Given the description of an element on the screen output the (x, y) to click on. 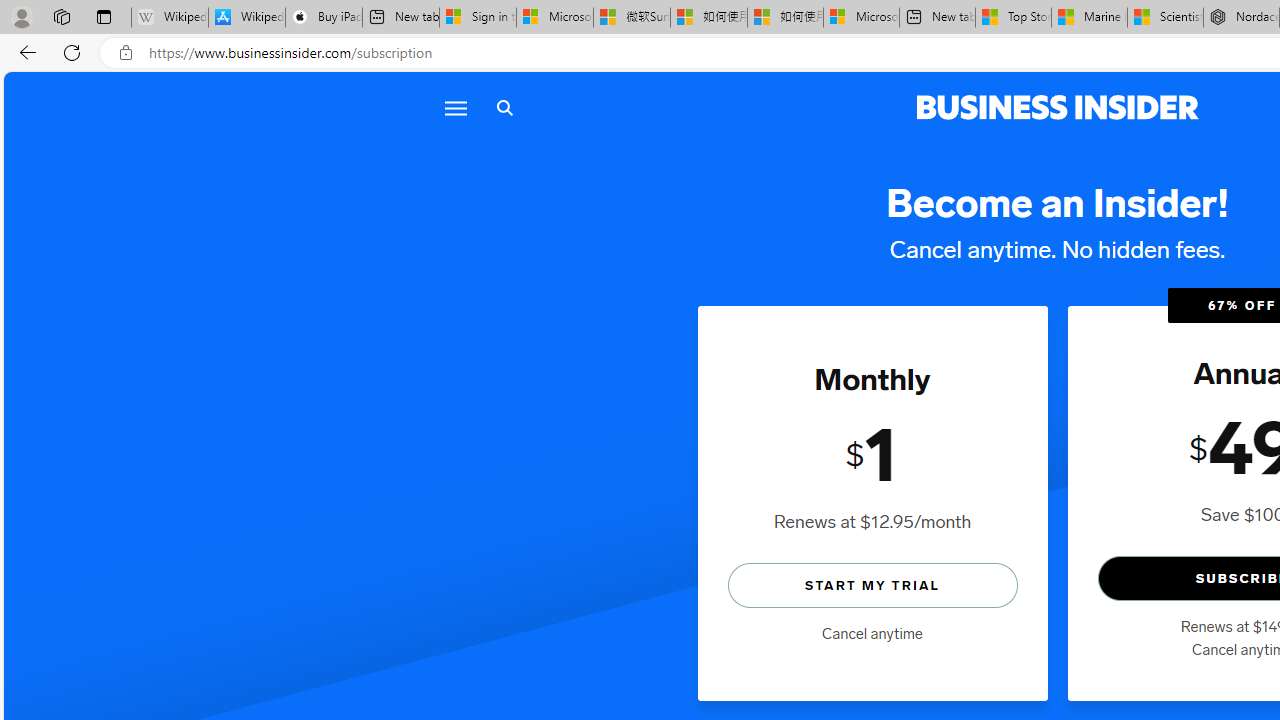
Menu icon (455, 107)
START MY TRIAL (872, 584)
